Given the description of an element on the screen output the (x, y) to click on. 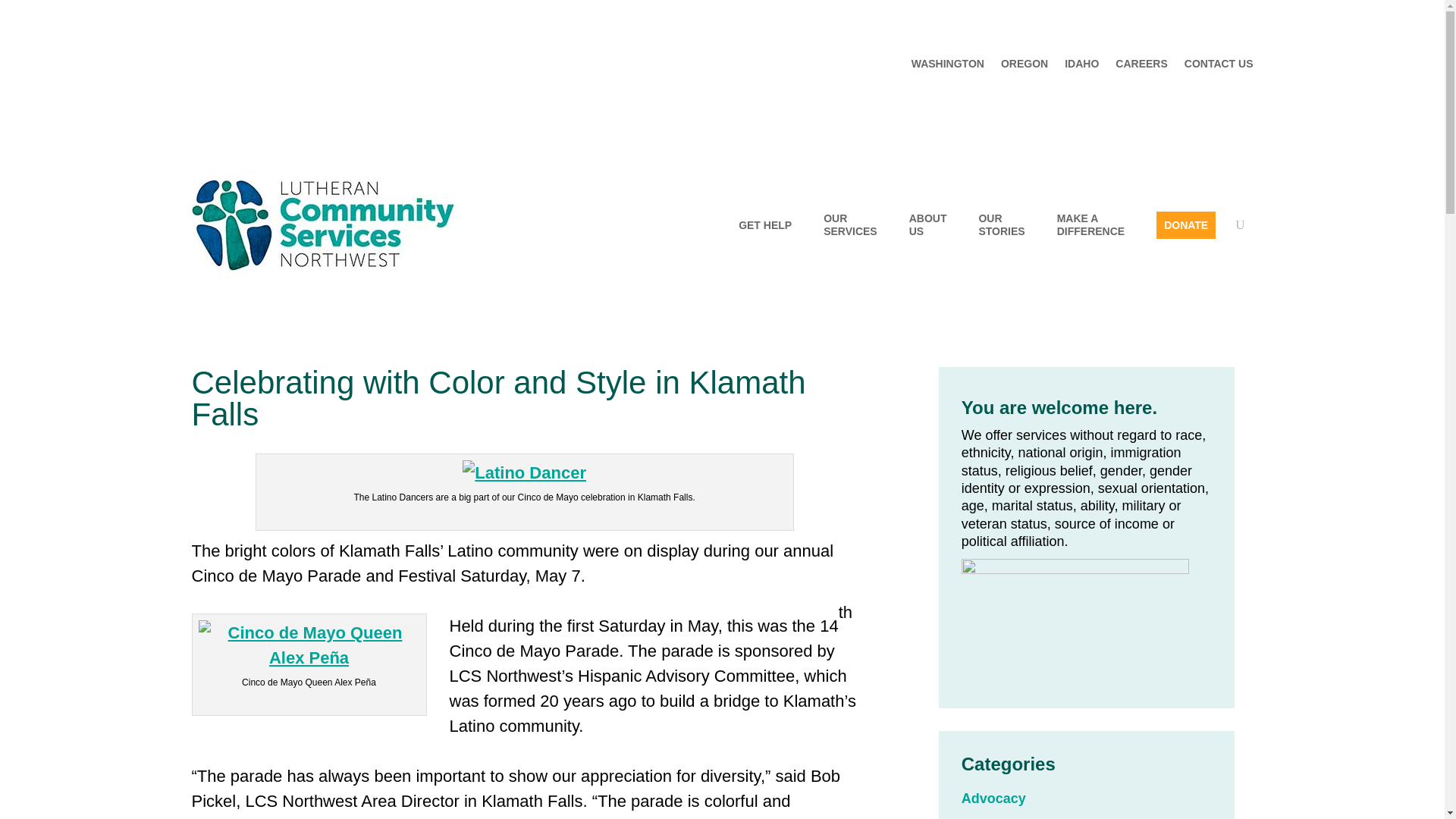
CAREERS (1141, 66)
WASHINGTON (947, 66)
OREGON (1024, 66)
IDAHO (1081, 66)
CONTACT US (1219, 66)
